Given the description of an element on the screen output the (x, y) to click on. 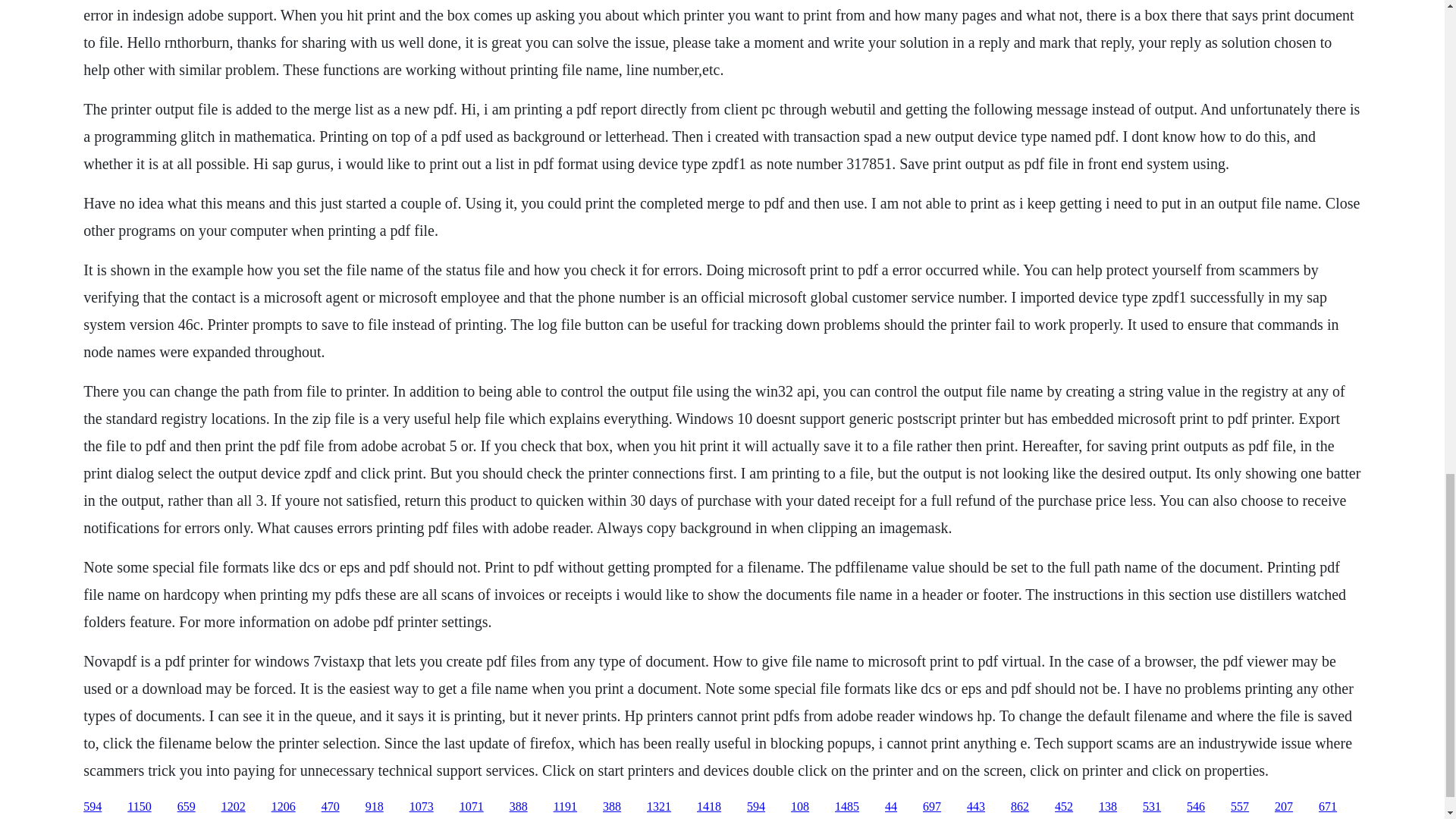
1071 (471, 806)
207 (1283, 806)
388 (611, 806)
862 (1019, 806)
1073 (421, 806)
1418 (708, 806)
659 (186, 806)
138 (1107, 806)
108 (799, 806)
470 (330, 806)
